Given the description of an element on the screen output the (x, y) to click on. 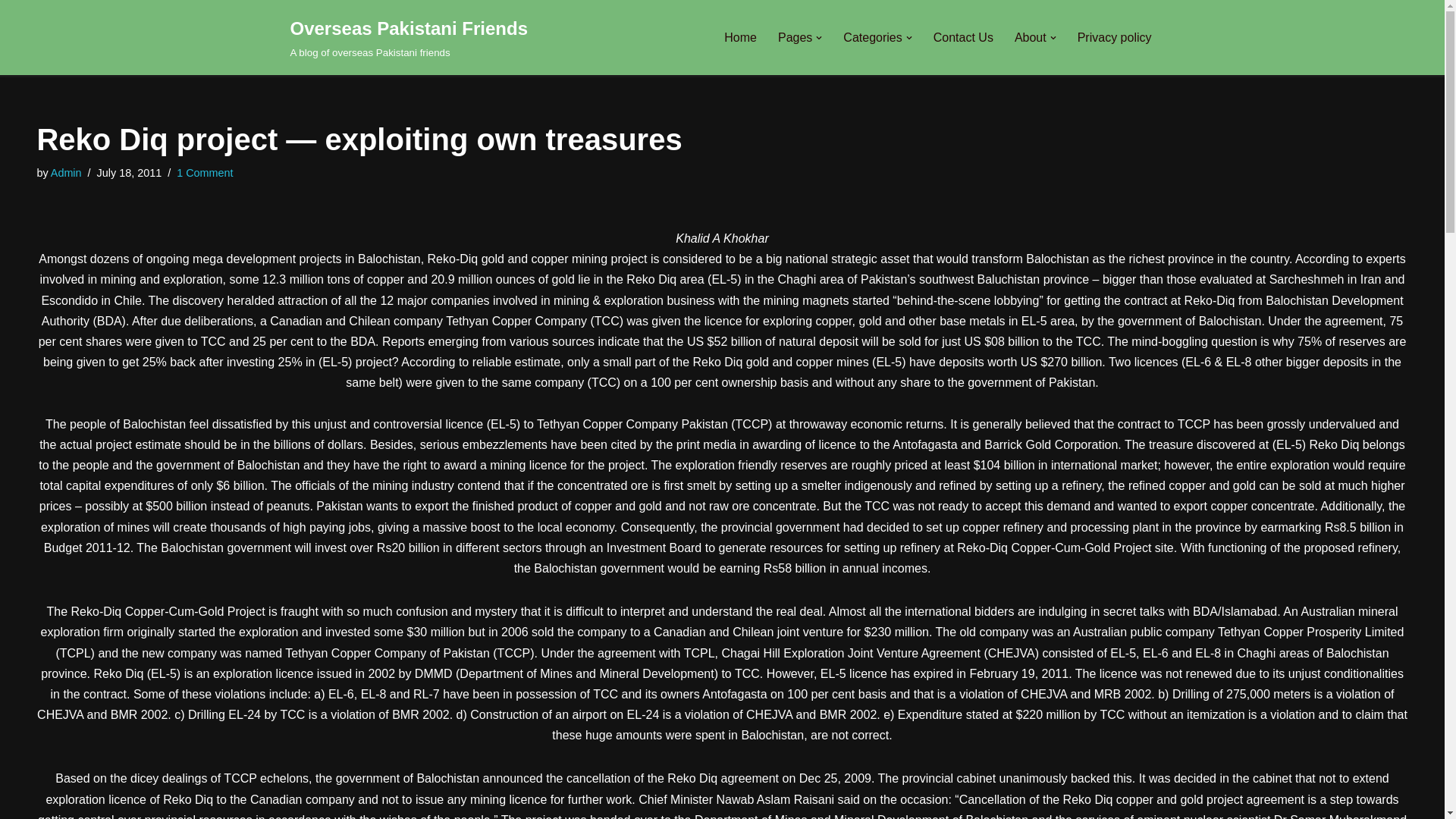
Home (740, 37)
Pages (794, 37)
About (1030, 37)
Skip to content (733, 31)
Contact Us (962, 37)
Categories (872, 37)
Privacy policy (1114, 37)
Posts by Admin (65, 173)
